Given the description of an element on the screen output the (x, y) to click on. 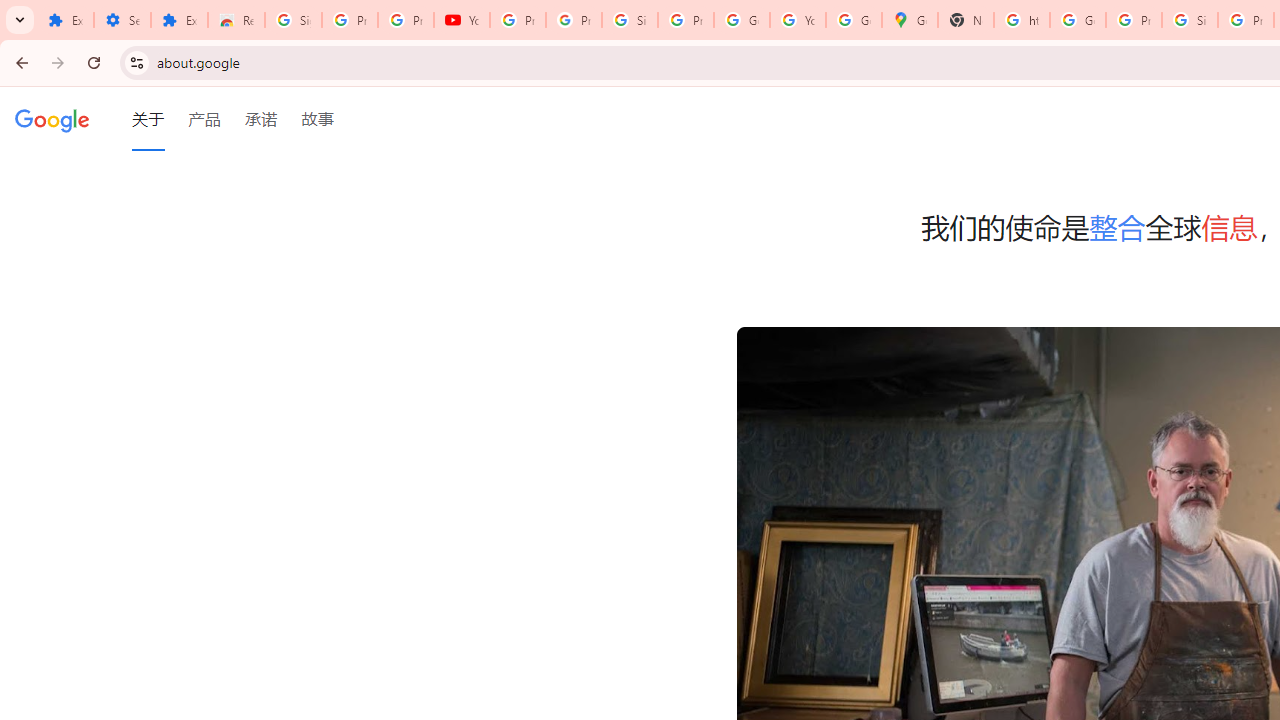
Google Account (742, 20)
Settings (122, 20)
View site information (136, 62)
Search tabs (20, 20)
YouTube (461, 20)
Reviews: Helix Fruit Jump Arcade Game (235, 20)
Google Maps (909, 20)
YouTube (797, 20)
Sign in - Google Accounts (1190, 20)
Google (52, 119)
